Given the description of an element on the screen output the (x, y) to click on. 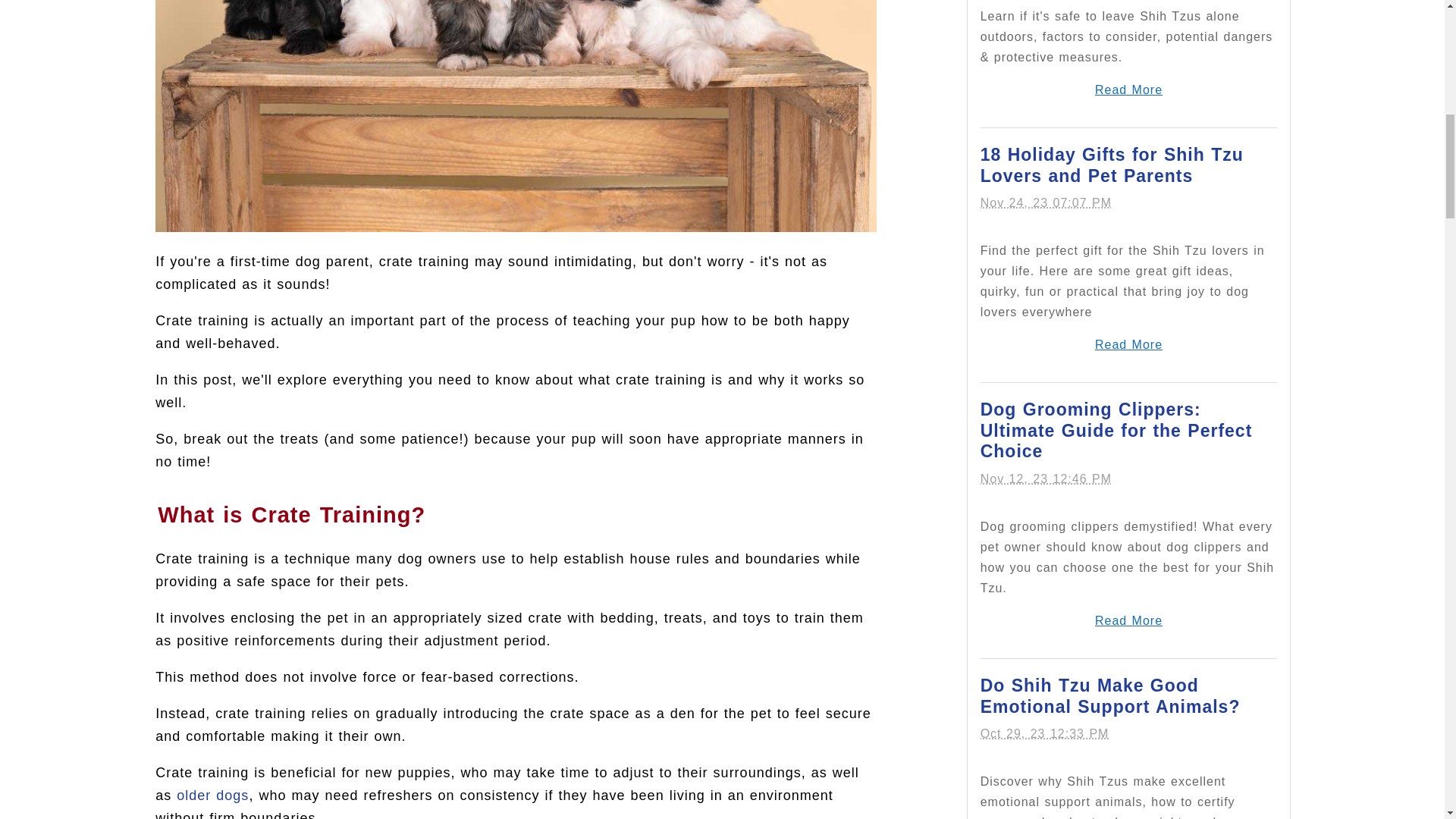
2023-10-29T12:33:11-0400 (1044, 733)
2023-11-12T12:46:09-0500 (1045, 478)
2023-11-24T19:07:34-0500 (1045, 202)
18 Holiday Gifts for Shih Tzu Lovers and Pet Parents (1111, 164)
Read More (1127, 89)
older dogs (212, 794)
